Given the description of an element on the screen output the (x, y) to click on. 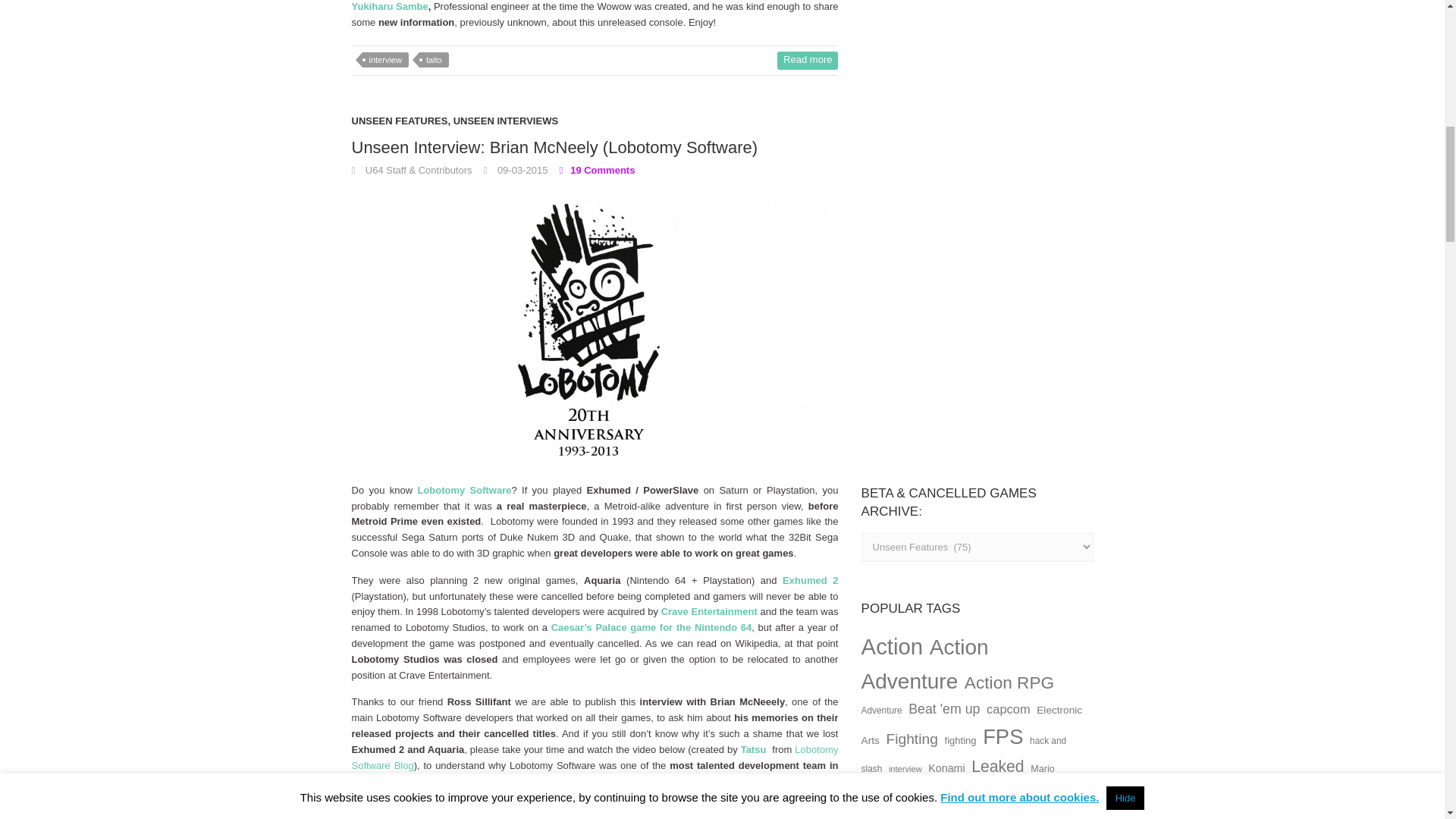
UNSEEN FEATURES (400, 125)
09-03-2015 (515, 170)
Lobotomy Software (463, 490)
19 Comments (596, 170)
UNSEEN INTERVIEWS (504, 125)
taito (433, 59)
00:17 (515, 170)
interview (385, 59)
Yukiharu Sambe (390, 6)
Read more (807, 60)
